Given the description of an element on the screen output the (x, y) to click on. 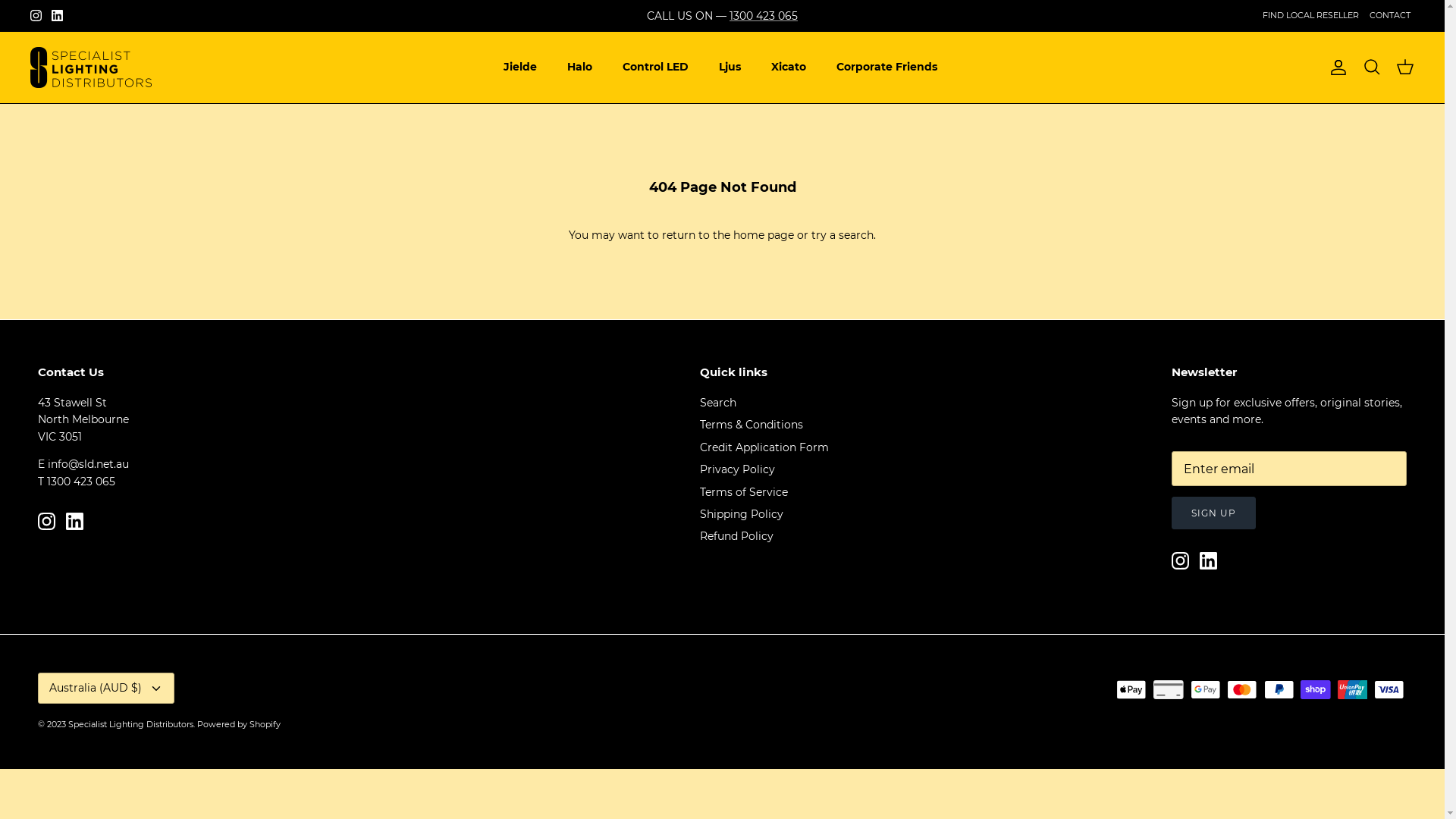
SIGN UP Element type: text (1213, 512)
Search Element type: text (1371, 67)
Shipping Policy Element type: text (740, 513)
Ljus Element type: text (729, 66)
1300 423 065 Element type: text (763, 15)
Powered by Shopify Element type: text (238, 723)
Australia (AUD $)
Down Element type: text (105, 687)
Xicato Element type: text (788, 66)
Halo Element type: text (579, 66)
Terms of Service Element type: text (743, 491)
Privacy Policy Element type: text (736, 469)
CONTACT Element type: text (1389, 15)
try a search Element type: text (842, 234)
Specialist Lighting Distributors Element type: hover (90, 67)
Account Element type: text (1335, 67)
Instagram Element type: text (35, 15)
Control LED Element type: text (655, 66)
Instagram Element type: text (1180, 560)
Terms & Conditions Element type: text (750, 424)
Credit Application Form Element type: text (763, 447)
Cart Element type: text (1405, 67)
Corporate Friends Element type: text (886, 66)
home page Element type: text (763, 234)
info@sld.net.au Element type: text (87, 463)
FIND LOCAL RESELLER Element type: text (1310, 15)
1300 423 065 Element type: text (81, 481)
Jielde Element type: text (519, 66)
Search Element type: text (717, 402)
Specialist Lighting Distributors Element type: text (130, 723)
Refund Policy Element type: text (735, 535)
Instagram Element type: text (46, 521)
